Given the description of an element on the screen output the (x, y) to click on. 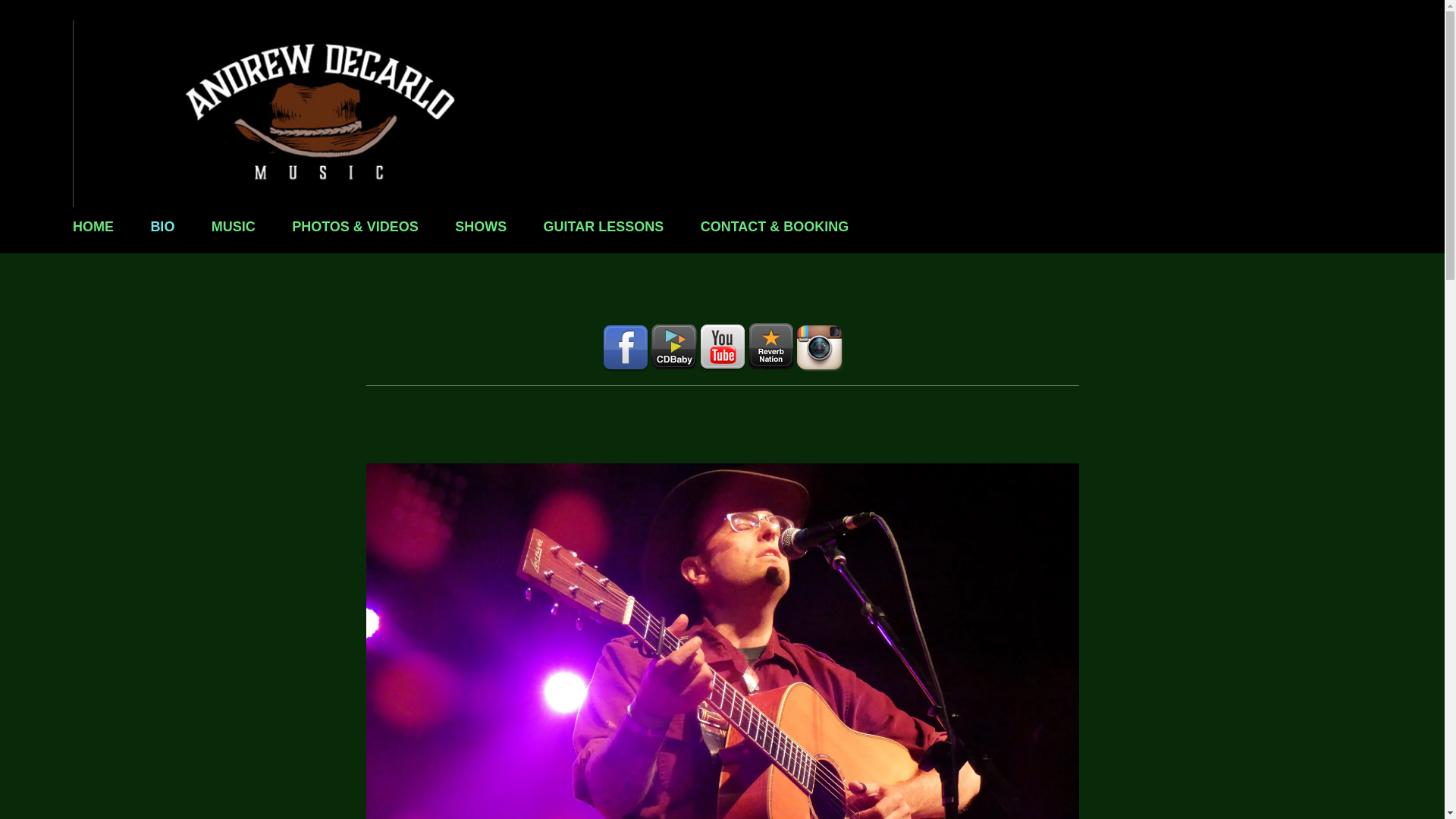
HOME (92, 226)
MUSIC (233, 226)
GUITAR LESSONS (603, 226)
BIO (161, 226)
SHOWS (480, 226)
